Given the description of an element on the screen output the (x, y) to click on. 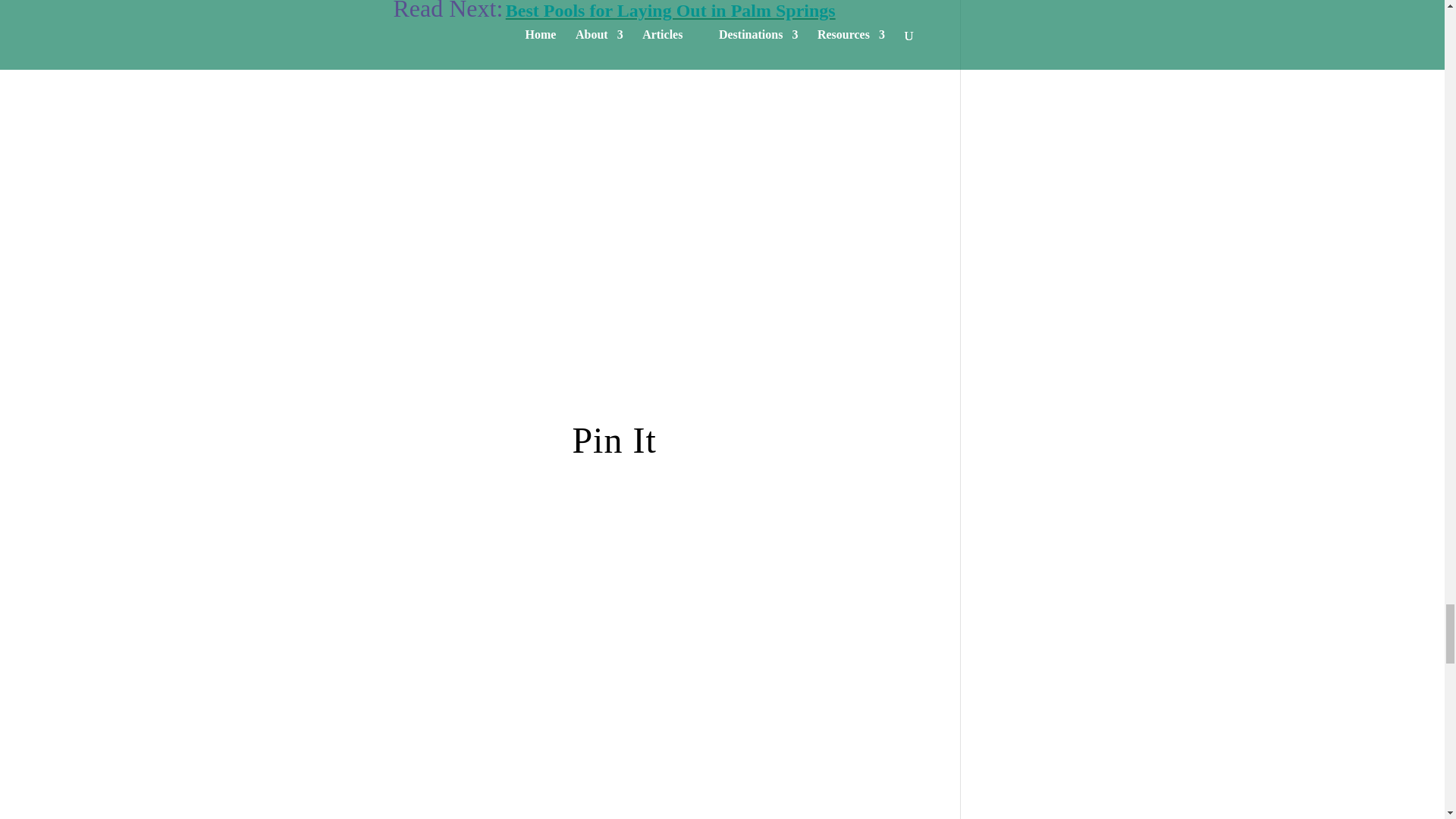
Best Pools for Laying Out in Palm Springs (670, 10)
